Given the description of an element on the screen output the (x, y) to click on. 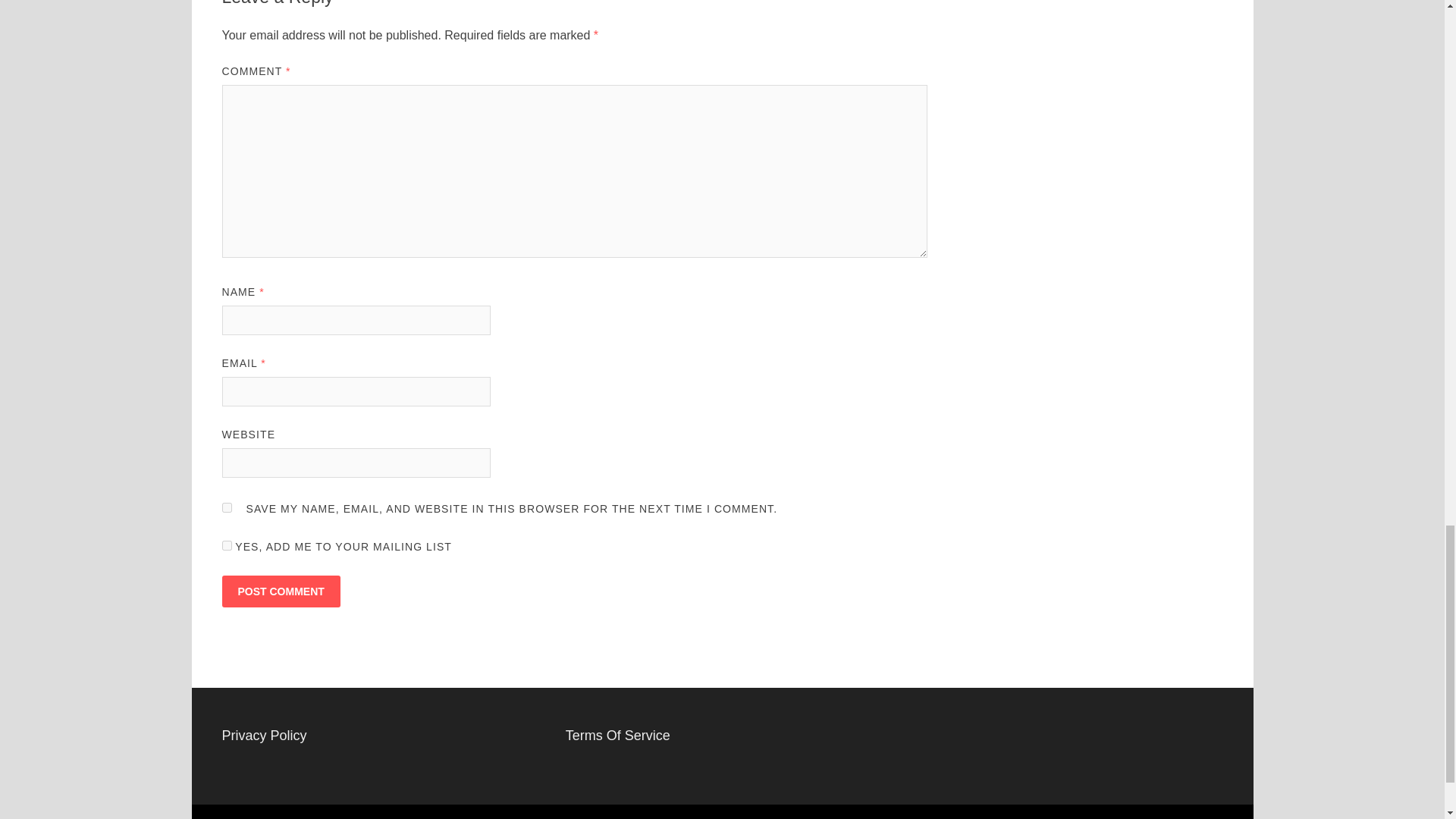
yes (226, 507)
1 (226, 545)
Post Comment (280, 591)
